Given the description of an element on the screen output the (x, y) to click on. 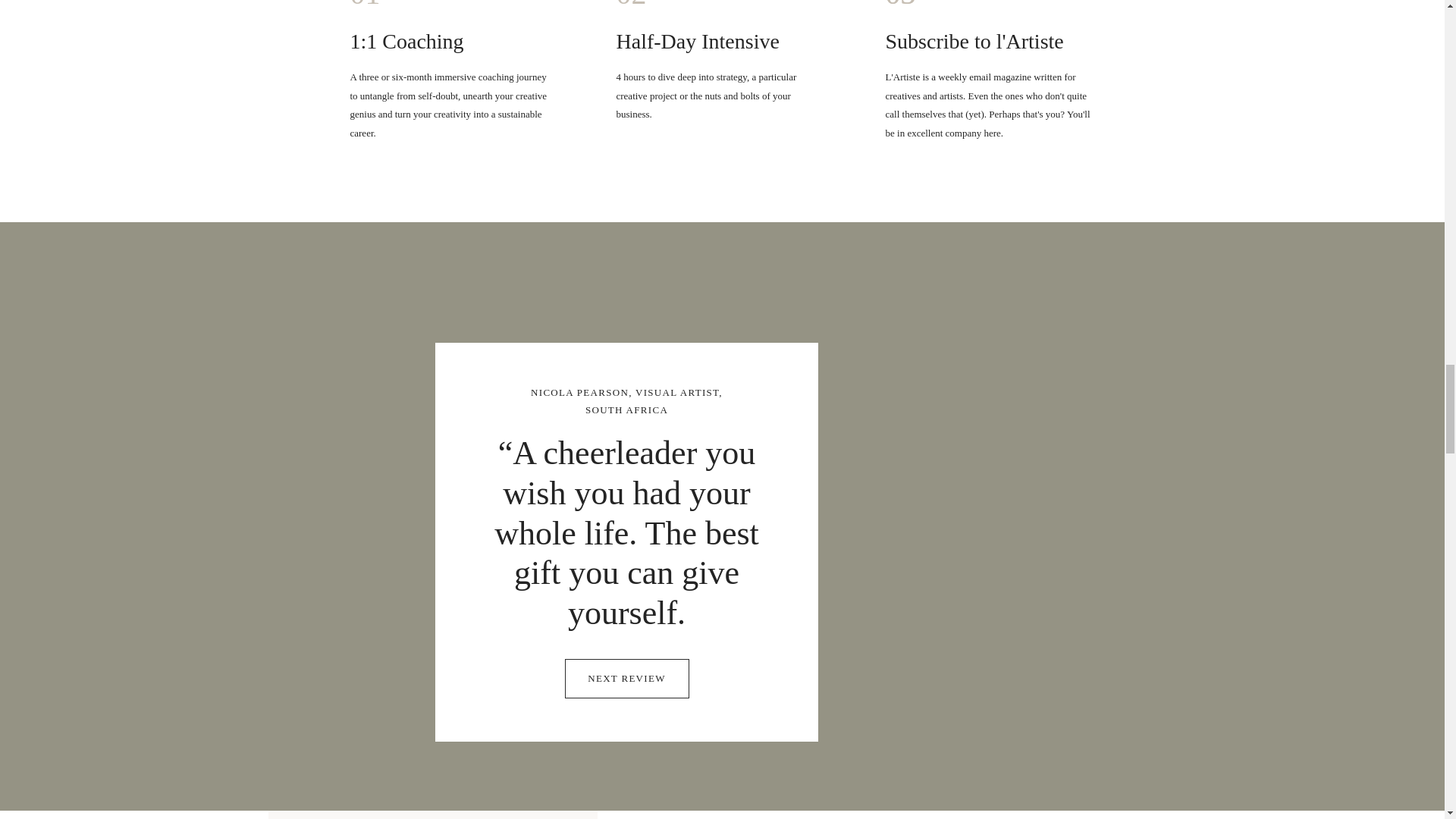
1:1 Coaching (460, 36)
NEXT REVIEW (626, 674)
Half-Day Intensive (725, 37)
Subscribe to l'Artiste (992, 36)
